Given the description of an element on the screen output the (x, y) to click on. 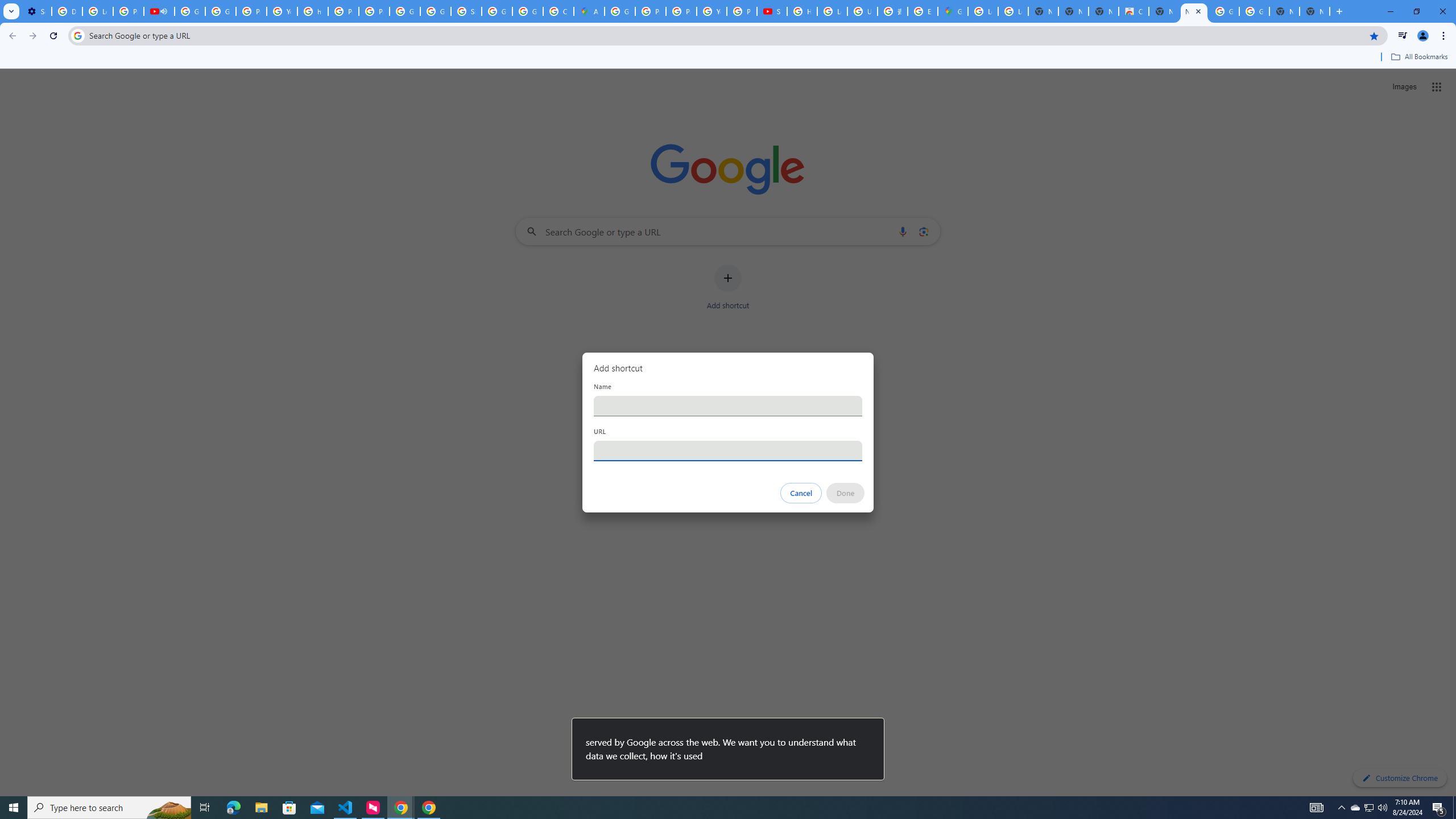
Sign in - Google Accounts (465, 11)
Cancel (801, 493)
Address and search bar (725, 35)
Privacy Help Center - Policies Help (681, 11)
Done (845, 493)
Google Account Help (220, 11)
